Given the description of an element on the screen output the (x, y) to click on. 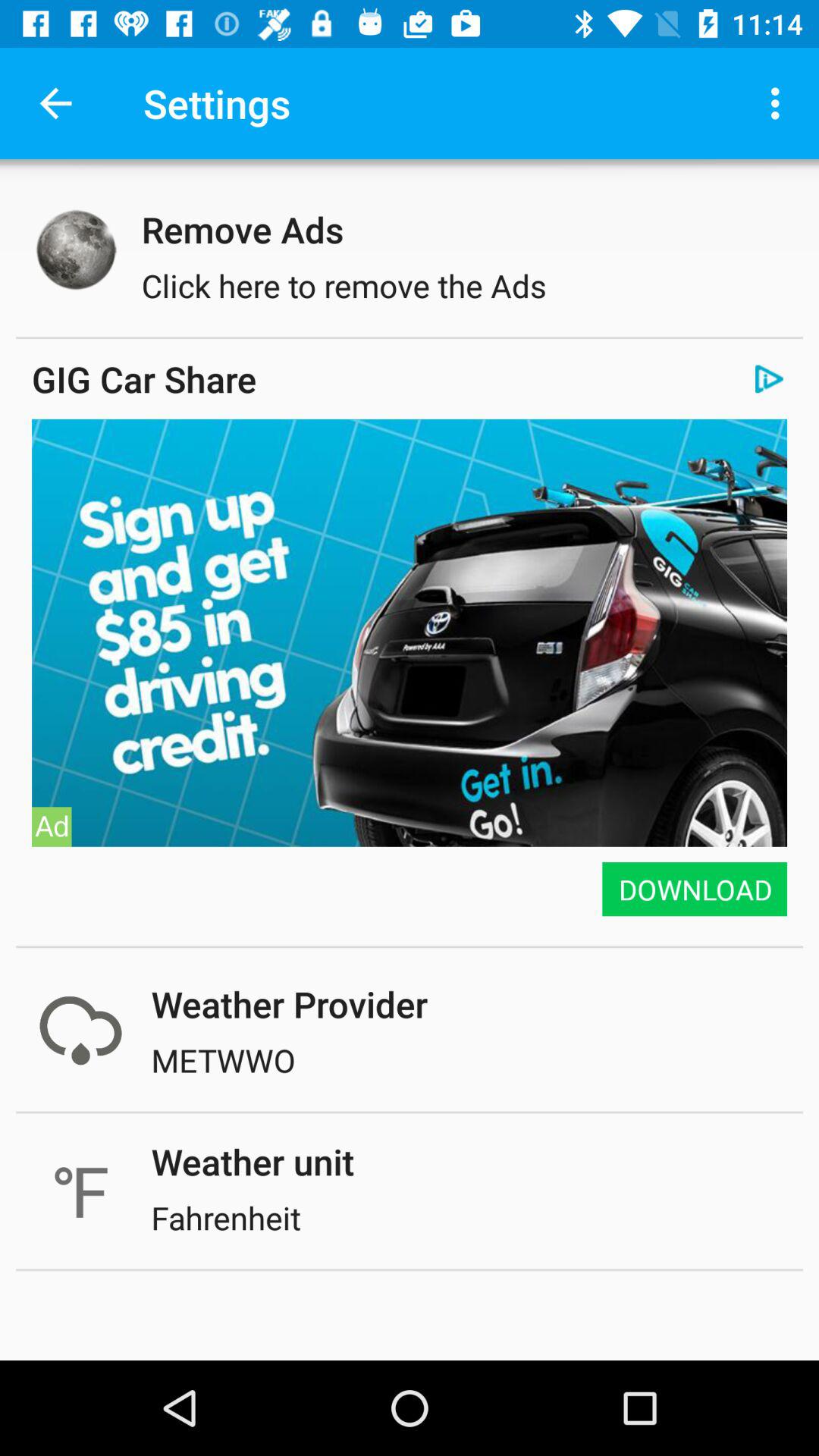
tap the icon to the right of the settings icon (779, 103)
